Given the description of an element on the screen output the (x, y) to click on. 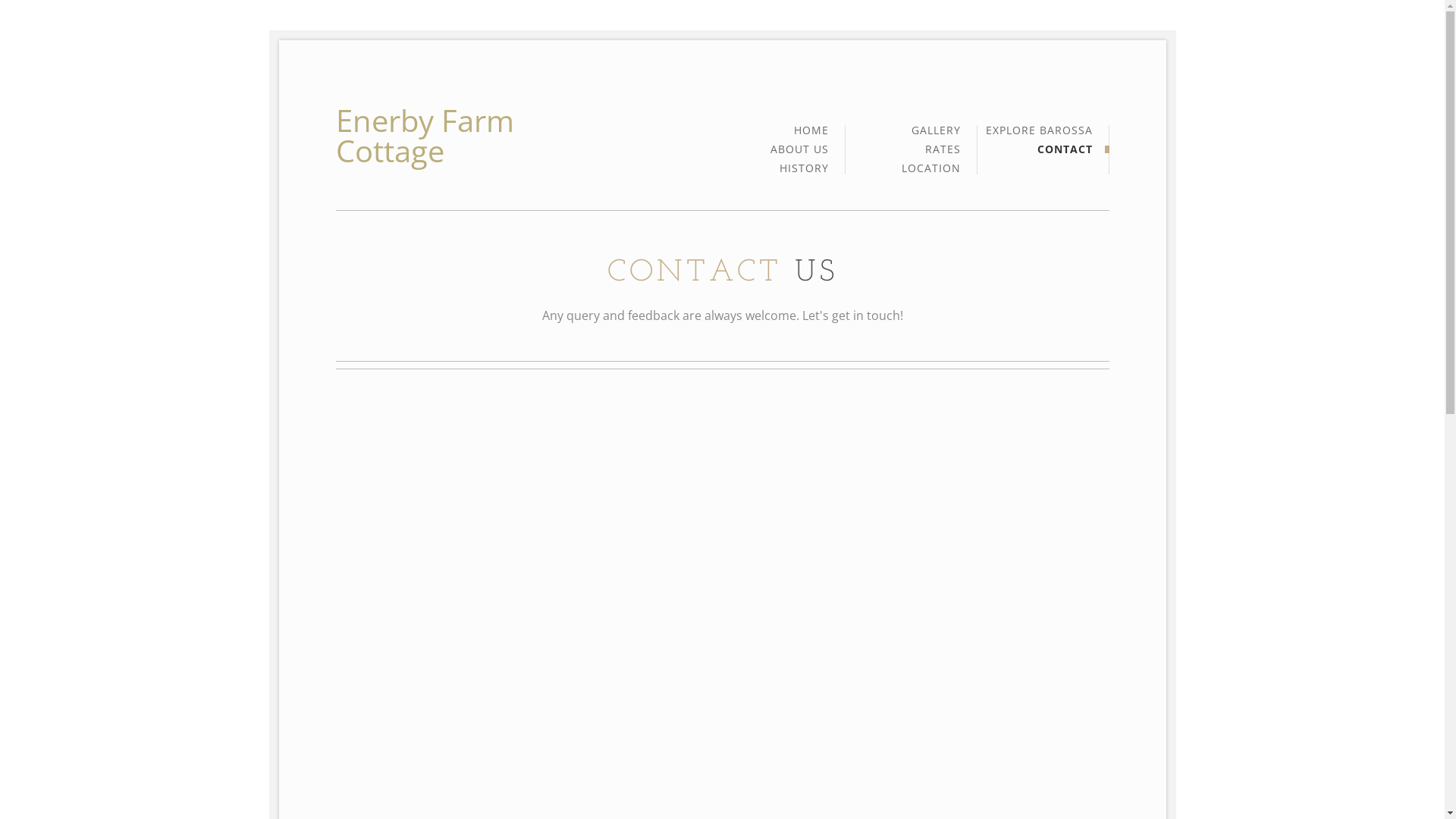
Enerby Farm Cottage Element type: text (470, 135)
GALLERY Element type: text (935, 134)
ABOUT US Element type: text (799, 153)
LOCATION Element type: text (930, 168)
RATES Element type: text (942, 153)
HOME Element type: text (810, 134)
EXPLORE BAROSSA Element type: text (1038, 134)
CONTACT Element type: text (1064, 149)
HISTORY Element type: text (803, 168)
